Given the description of an element on the screen output the (x, y) to click on. 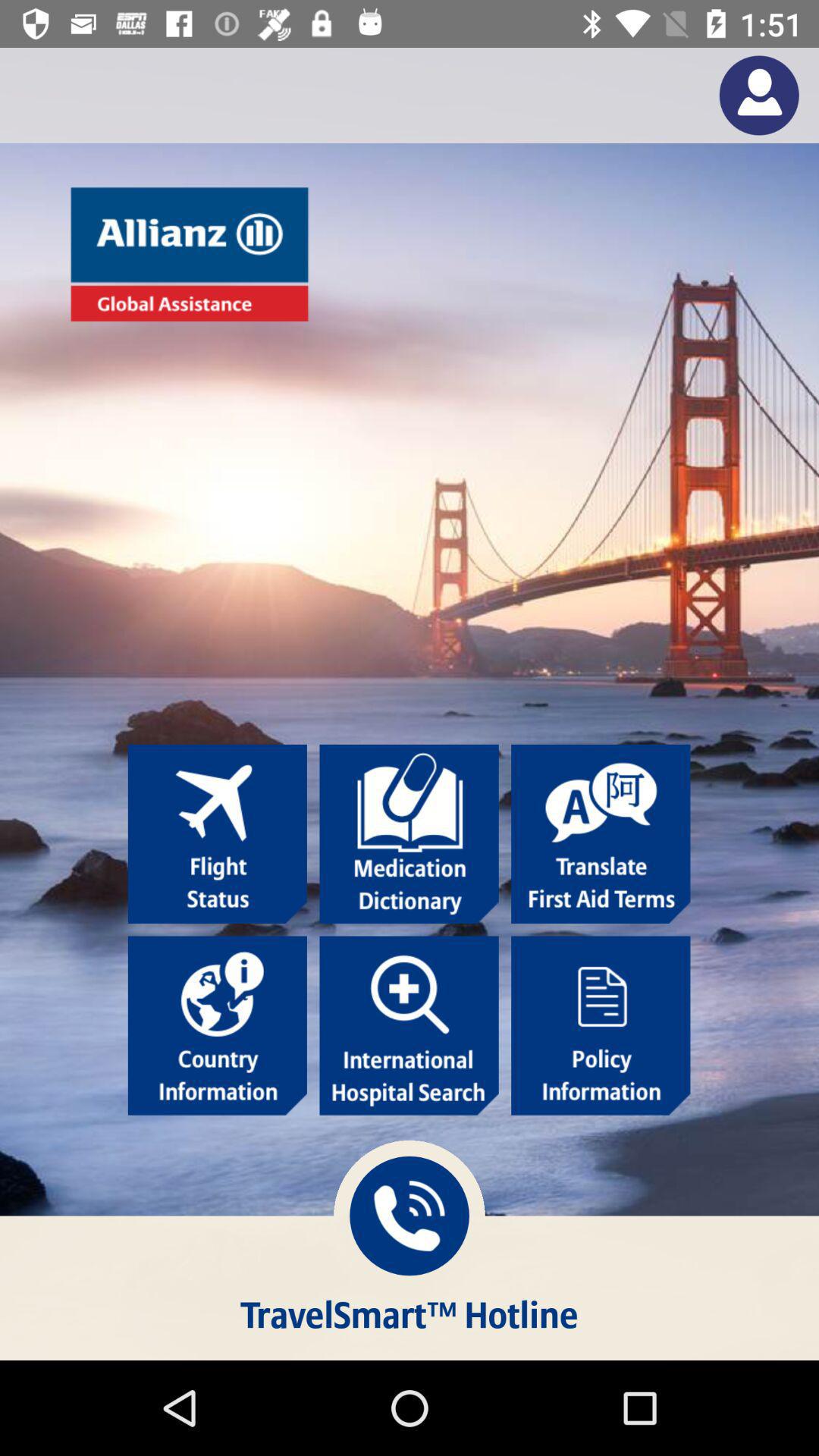
contact a person (759, 95)
